Given the description of an element on the screen output the (x, y) to click on. 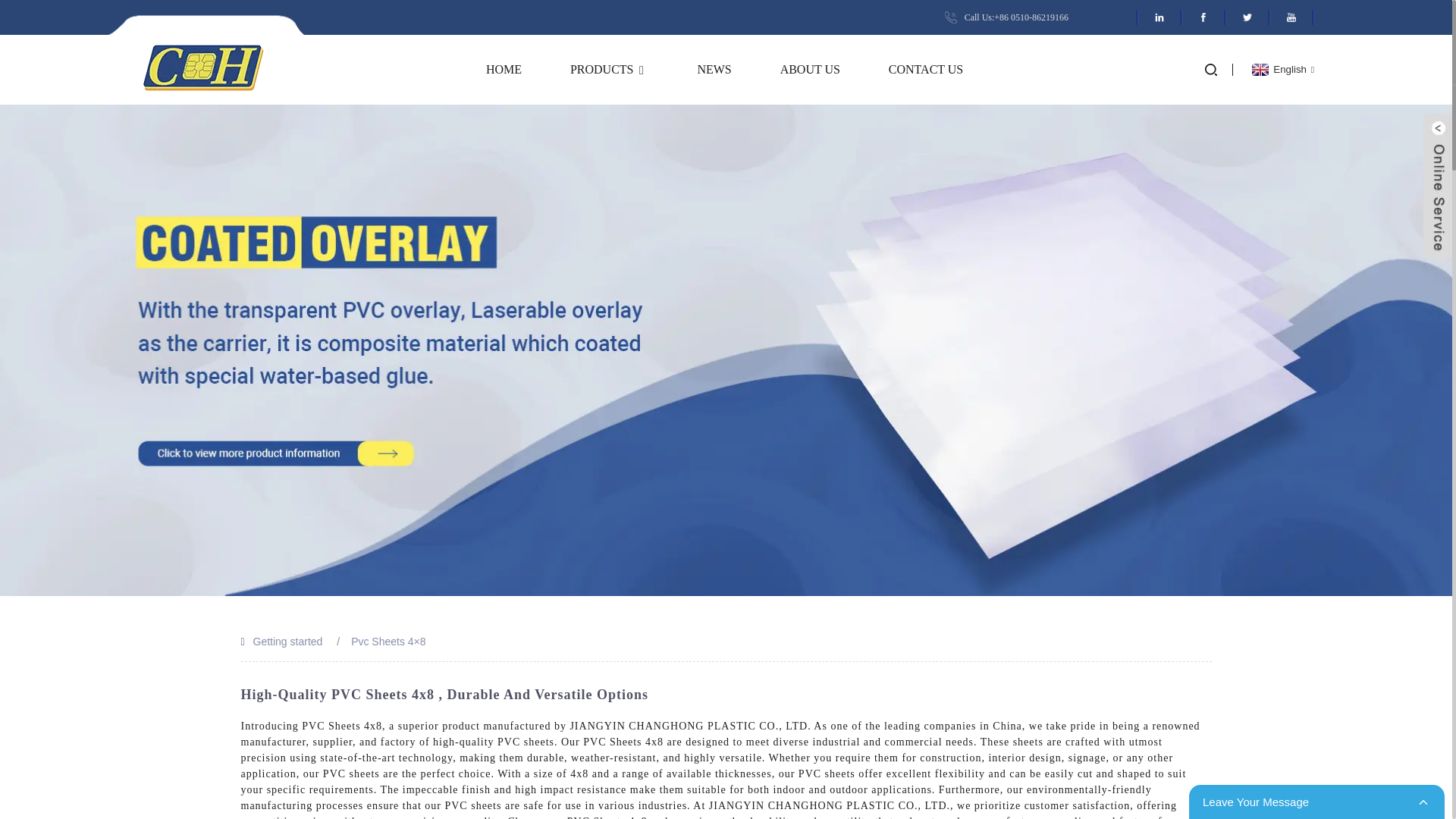
HOME (503, 69)
CONTACT US (925, 69)
English (1280, 69)
ABOUT US (810, 69)
PRODUCTS (609, 69)
Getting started (288, 641)
NEWS (713, 69)
